Given the description of an element on the screen output the (x, y) to click on. 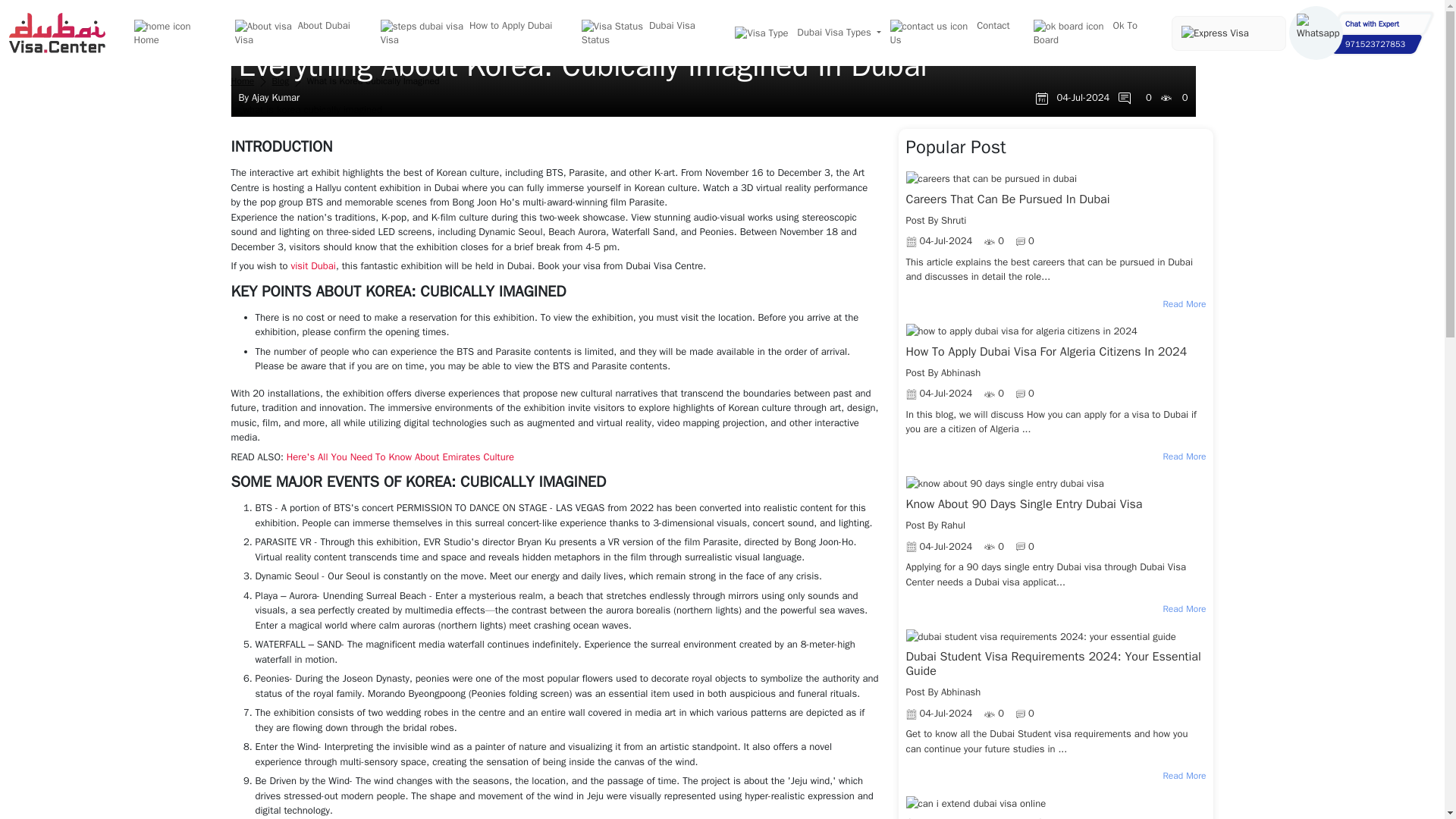
Ok To Board (1098, 33)
Contact Us (955, 33)
Home (241, 80)
Dubaivisacenter (56, 31)
Dubai Visa Status (652, 33)
Here's All You Need To Know About Emirates Culture (399, 456)
visit Dubai (311, 265)
About Dubai Visa (301, 33)
About Dubai Visa (301, 33)
Dubai Visa Types (806, 32)
